Given the description of an element on the screen output the (x, y) to click on. 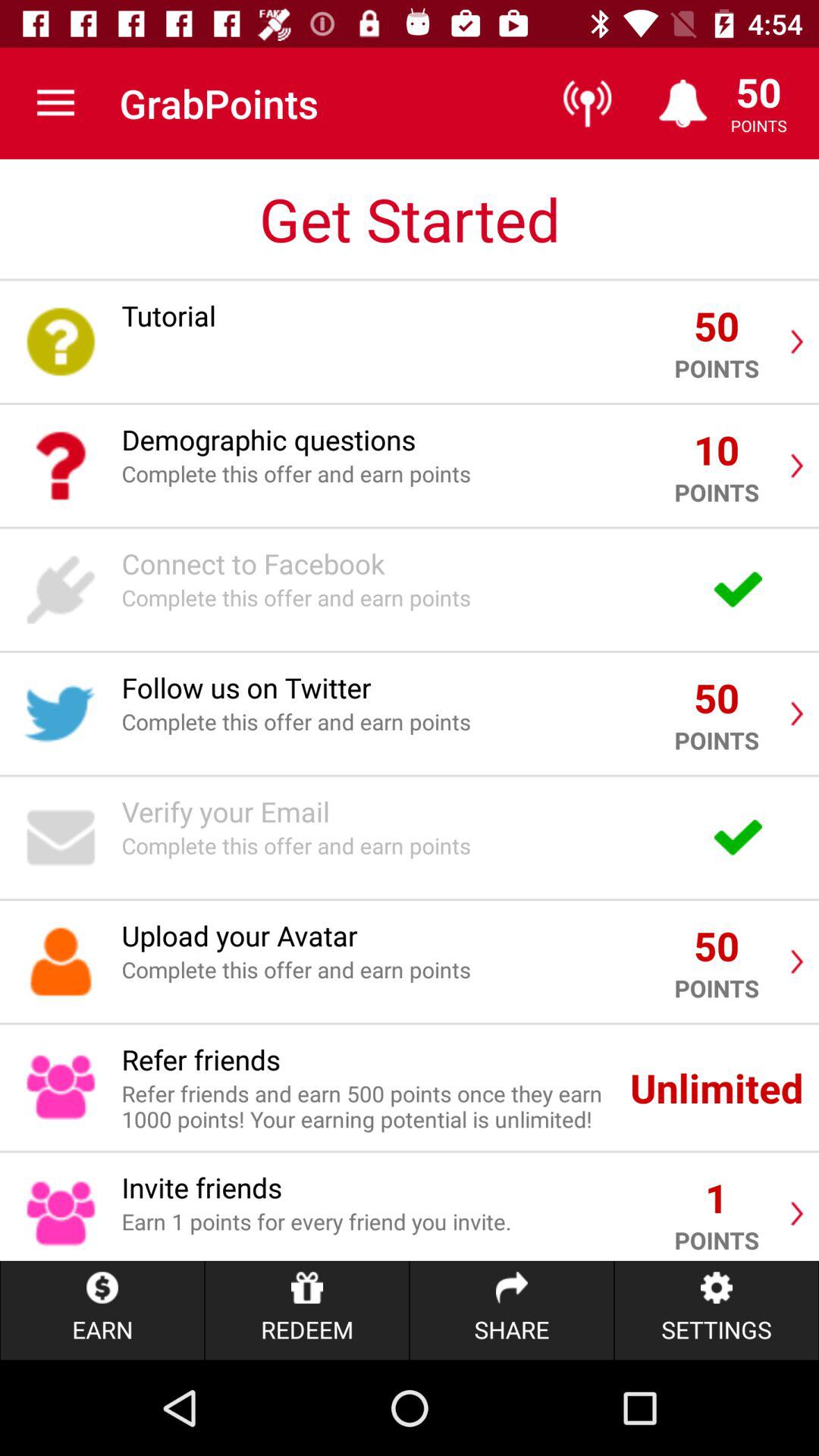
turn on the item above the get started (55, 103)
